Given the description of an element on the screen output the (x, y) to click on. 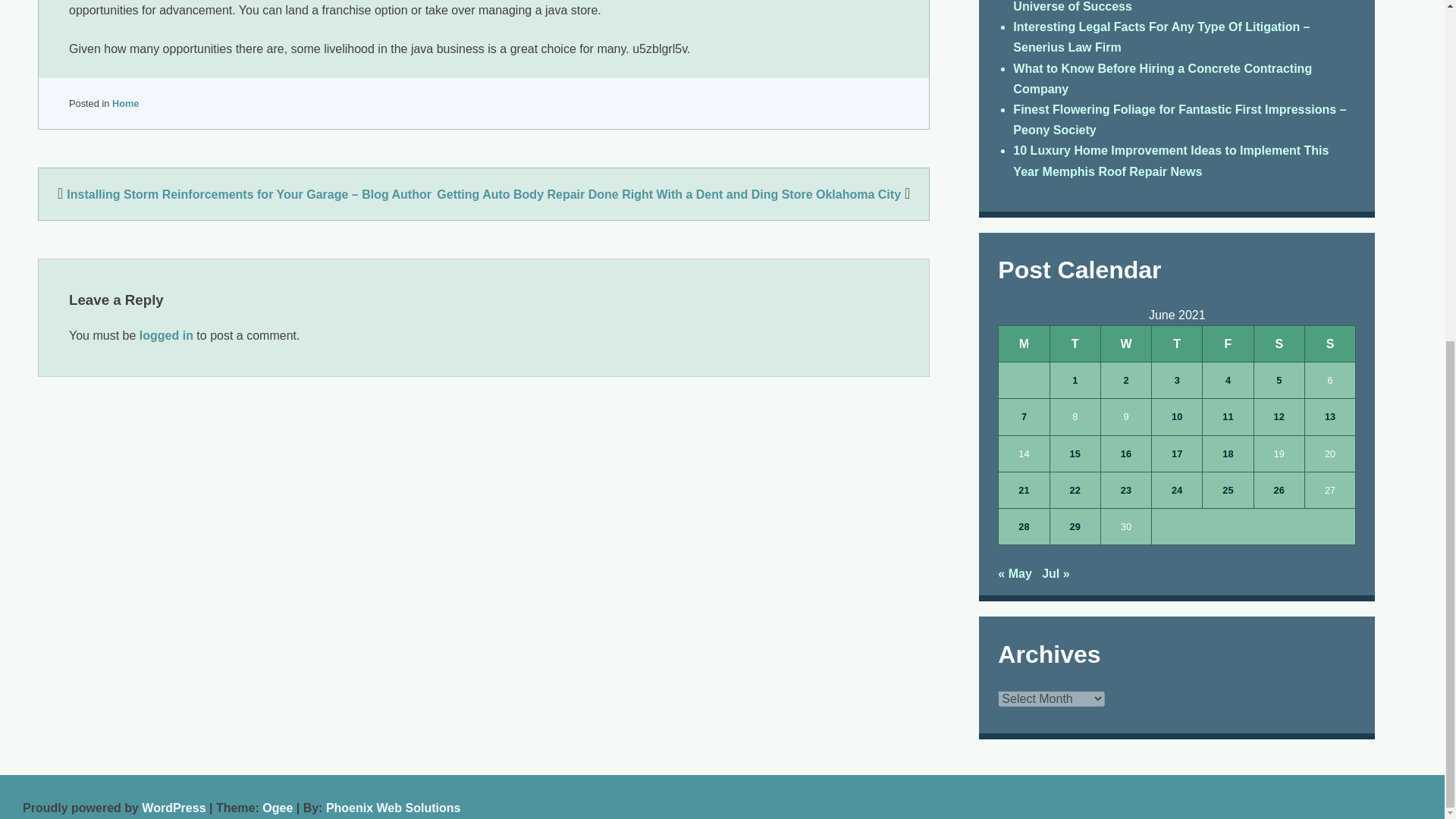
15 (1074, 453)
13 (1329, 416)
12 (1278, 416)
logged in (166, 335)
Sunday (1329, 343)
22 (1074, 489)
Thursday (1176, 343)
2 (1125, 380)
16 (1125, 453)
What to Know Before Hiring a Concrete Contracting Company (1162, 78)
3 (1176, 380)
Wednesday (1125, 343)
Monday (1023, 343)
Tuesday (1074, 343)
18 (1227, 453)
